Given the description of an element on the screen output the (x, y) to click on. 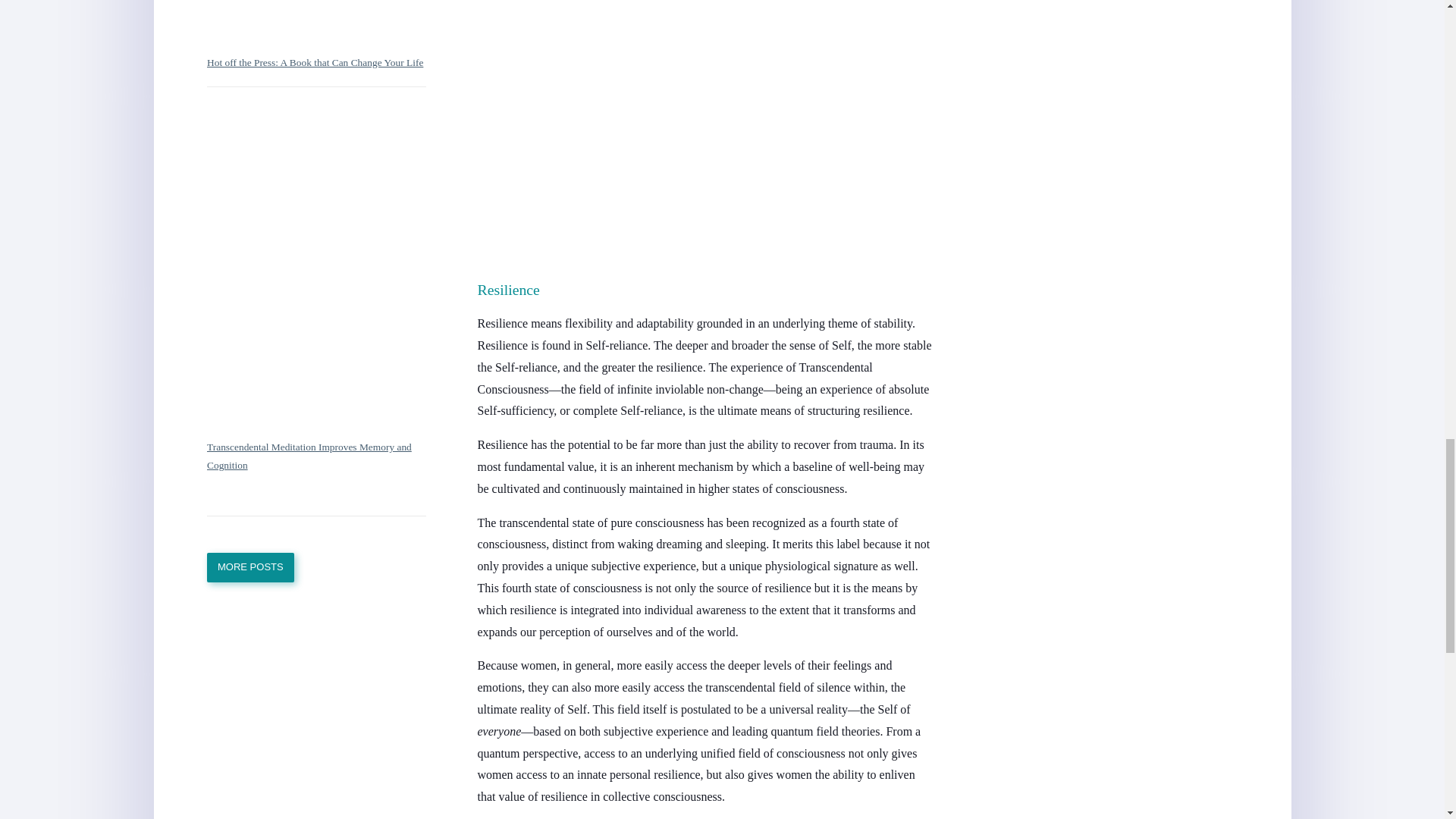
Hot off the Press: A Book that Can Change Your Life (314, 61)
Transcendental Meditation Improves Memory and Cognition (308, 455)
MORE POSTS (250, 567)
